Given the description of an element on the screen output the (x, y) to click on. 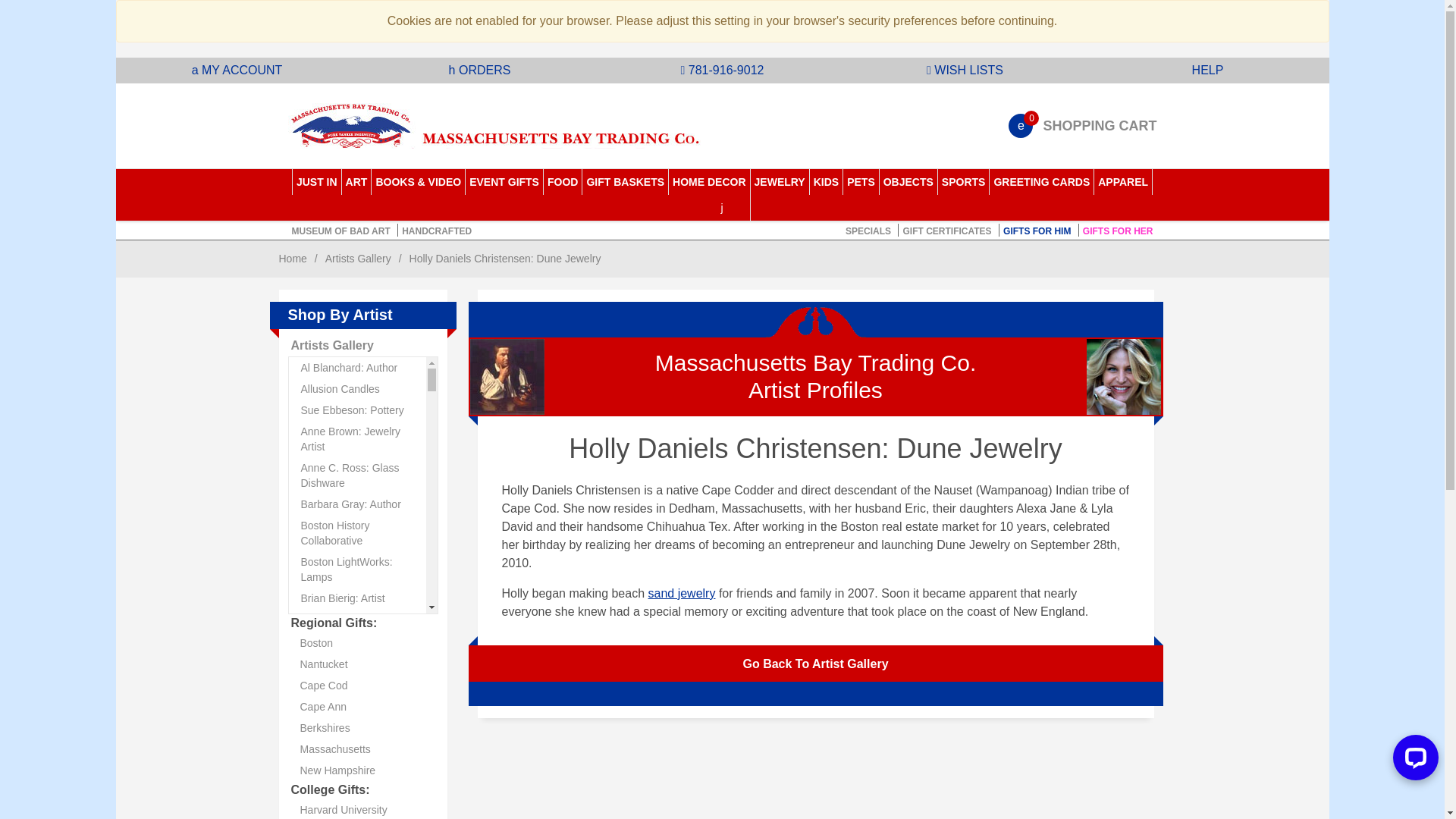
 781-916-9012 (722, 69)
Artists Gallery (357, 258)
JUST IN (317, 181)
MY ACCOUNT (237, 69)
ART (357, 181)
Home (293, 258)
WISH LISTS (964, 69)
EVENT GIFTS (504, 181)
Welcome to Massachusetts Bay Trading Co. (497, 125)
Massachusetts Bay Trading Company (500, 125)
ORDERS (479, 69)
